Given the description of an element on the screen output the (x, y) to click on. 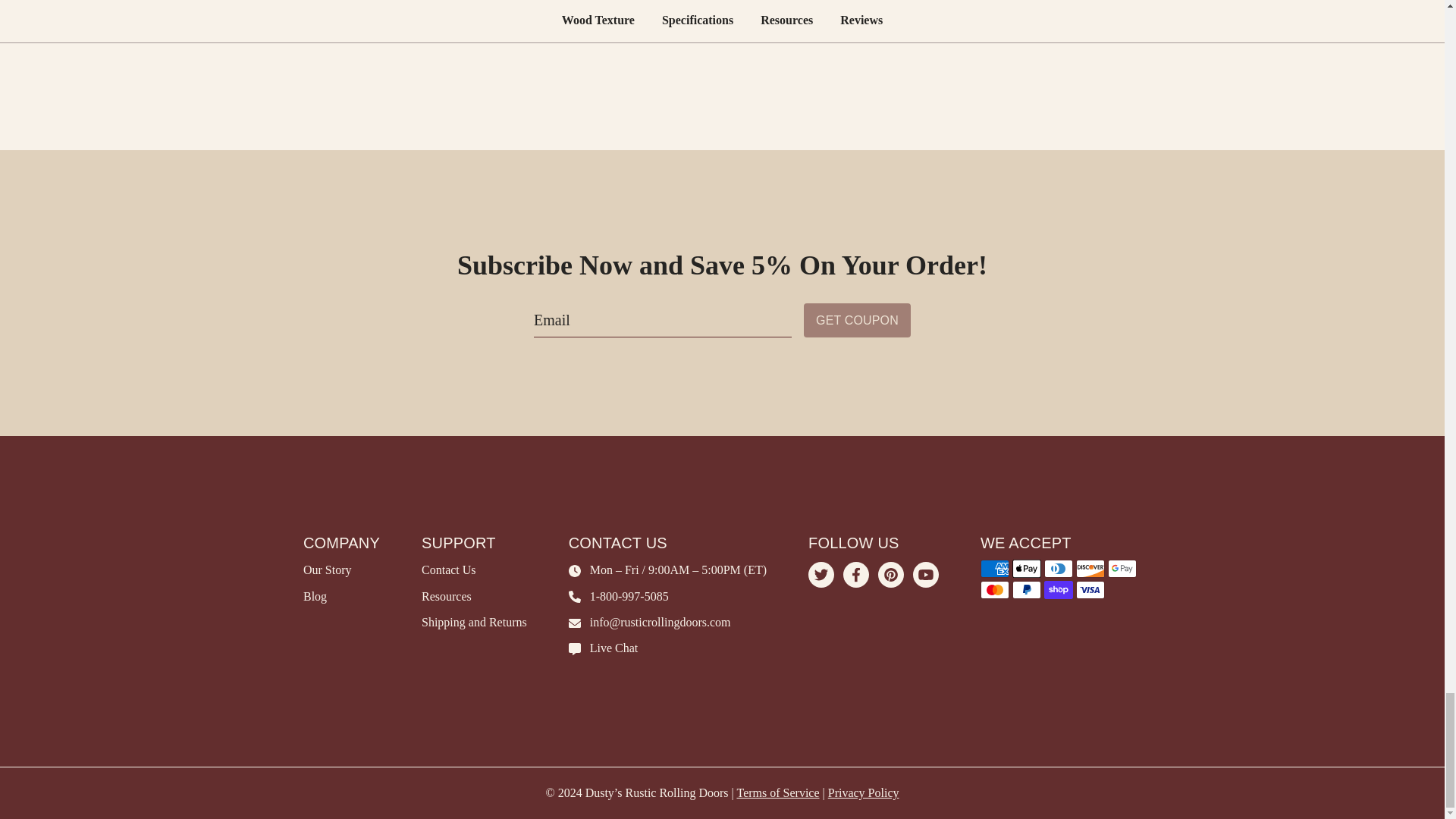
Privacy Policy (863, 792)
Discover (1090, 568)
Contact Us (449, 569)
Mastercard (994, 589)
Google Pay (1122, 568)
Resources (446, 595)
Shipping and Returns (474, 621)
American Express (994, 568)
Apple Pay (1026, 568)
About Us (327, 569)
